Given the description of an element on the screen output the (x, y) to click on. 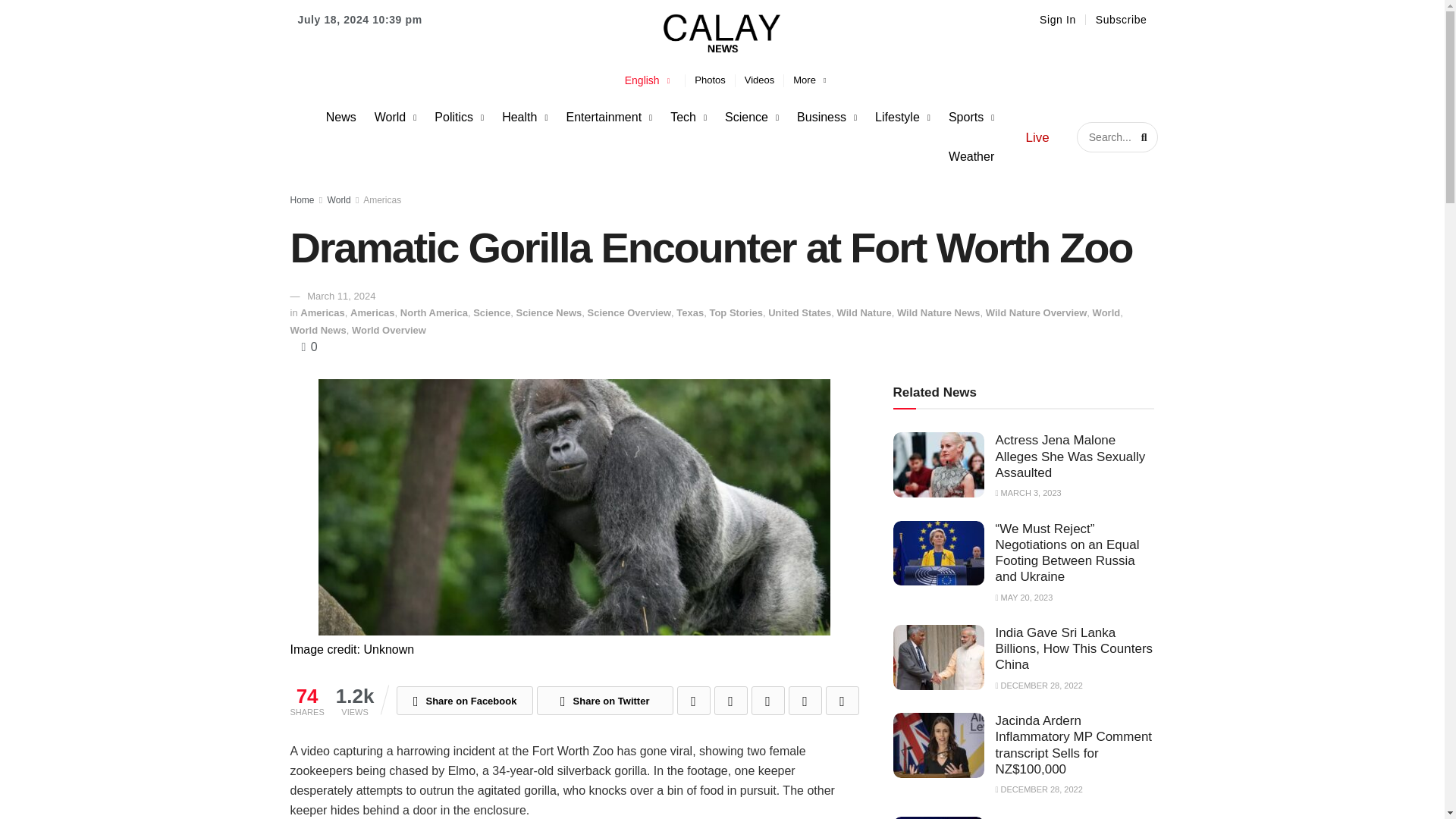
More (809, 80)
English (647, 80)
Photos (709, 80)
English (647, 80)
Videos (759, 80)
